Given the description of an element on the screen output the (x, y) to click on. 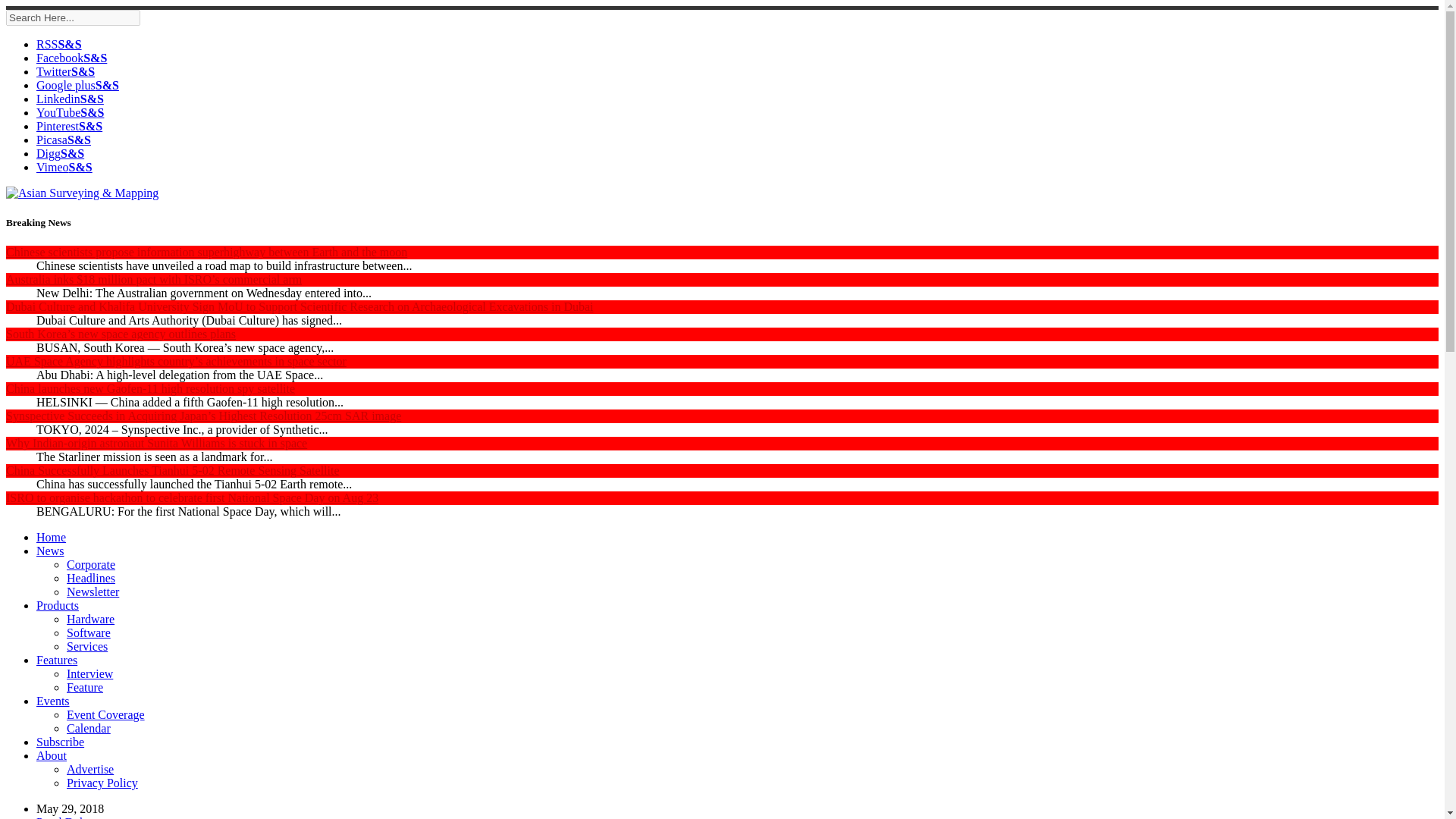
Event Coverage (105, 714)
Google plus (77, 84)
Home (50, 536)
Twitter (65, 71)
Privacy Policy (102, 782)
Search Here... (72, 17)
Corporate (90, 563)
Feature (84, 686)
Informed Infrastructure (60, 153)
Newsletter (92, 591)
GeoSpatial Stream (64, 166)
Advertise (89, 768)
Interview (89, 673)
RSS (58, 43)
Products (57, 604)
